Given the description of an element on the screen output the (x, y) to click on. 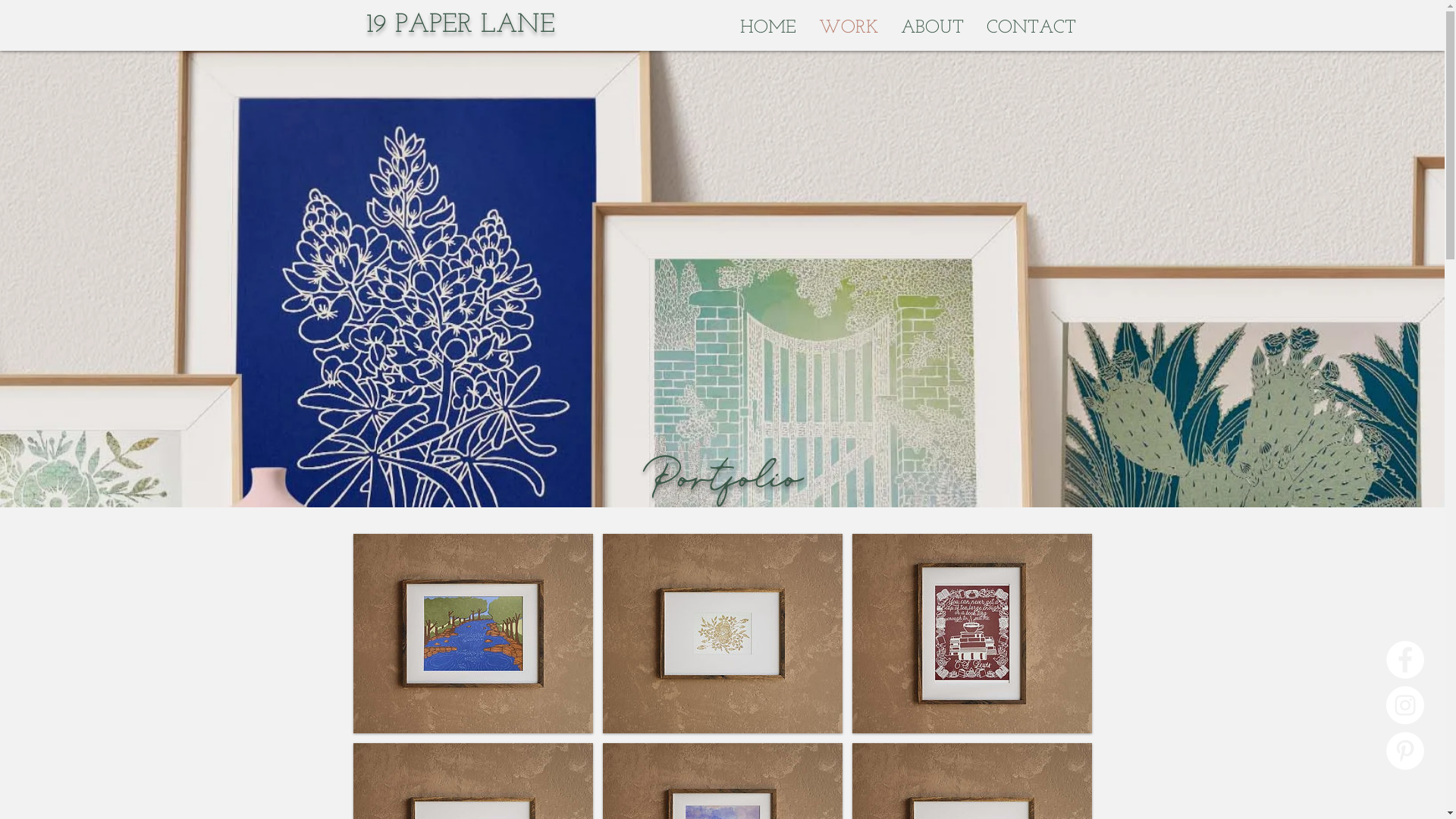
19 PAPER LANE Element type: text (459, 25)
HOME Element type: text (767, 26)
CONTACT Element type: text (1031, 26)
ABOUT Element type: text (931, 26)
WORK Element type: text (847, 26)
